Given the description of an element on the screen output the (x, y) to click on. 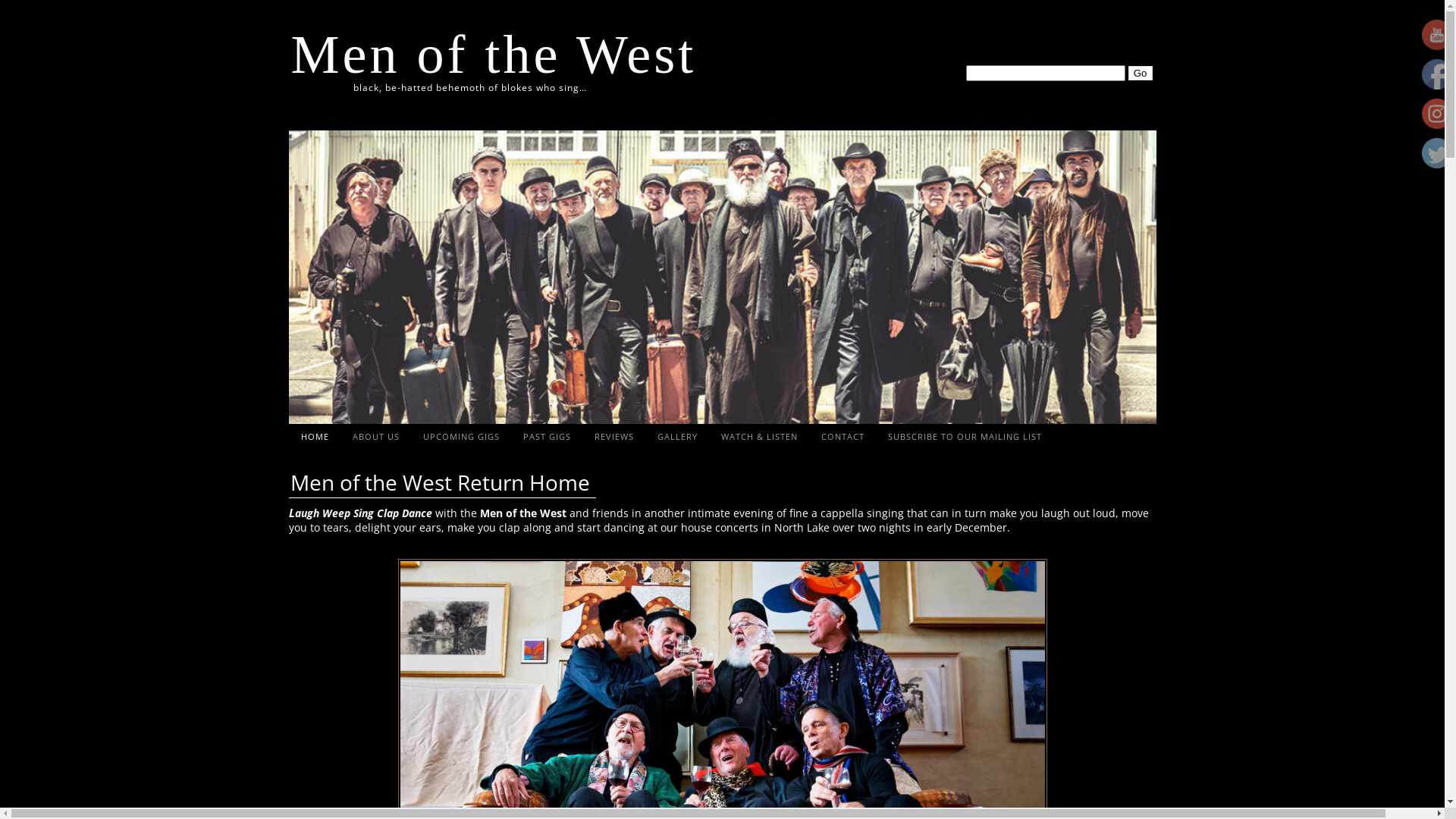
SUBSCRIBE TO OUR MAILING LIST Element type: text (965, 435)
Facebook Element type: hover (1436, 74)
ABOUT US Element type: text (376, 435)
WATCH & LISTEN Element type: text (759, 435)
Men of the West Return Home Element type: text (441, 482)
PAST GIGS Element type: text (546, 435)
CONTACT Element type: text (842, 435)
REVIEWS Element type: text (613, 435)
The Men Element type: hover (1436, 113)
Go Element type: text (1140, 72)
Twitter Element type: hover (1436, 153)
Men of the West Element type: text (493, 54)
UPCOMING GIGS Element type: text (461, 435)
GALLERY Element type: text (677, 435)
Men of the West Element type: hover (1436, 34)
HOME Element type: text (315, 435)
